Given the description of an element on the screen output the (x, y) to click on. 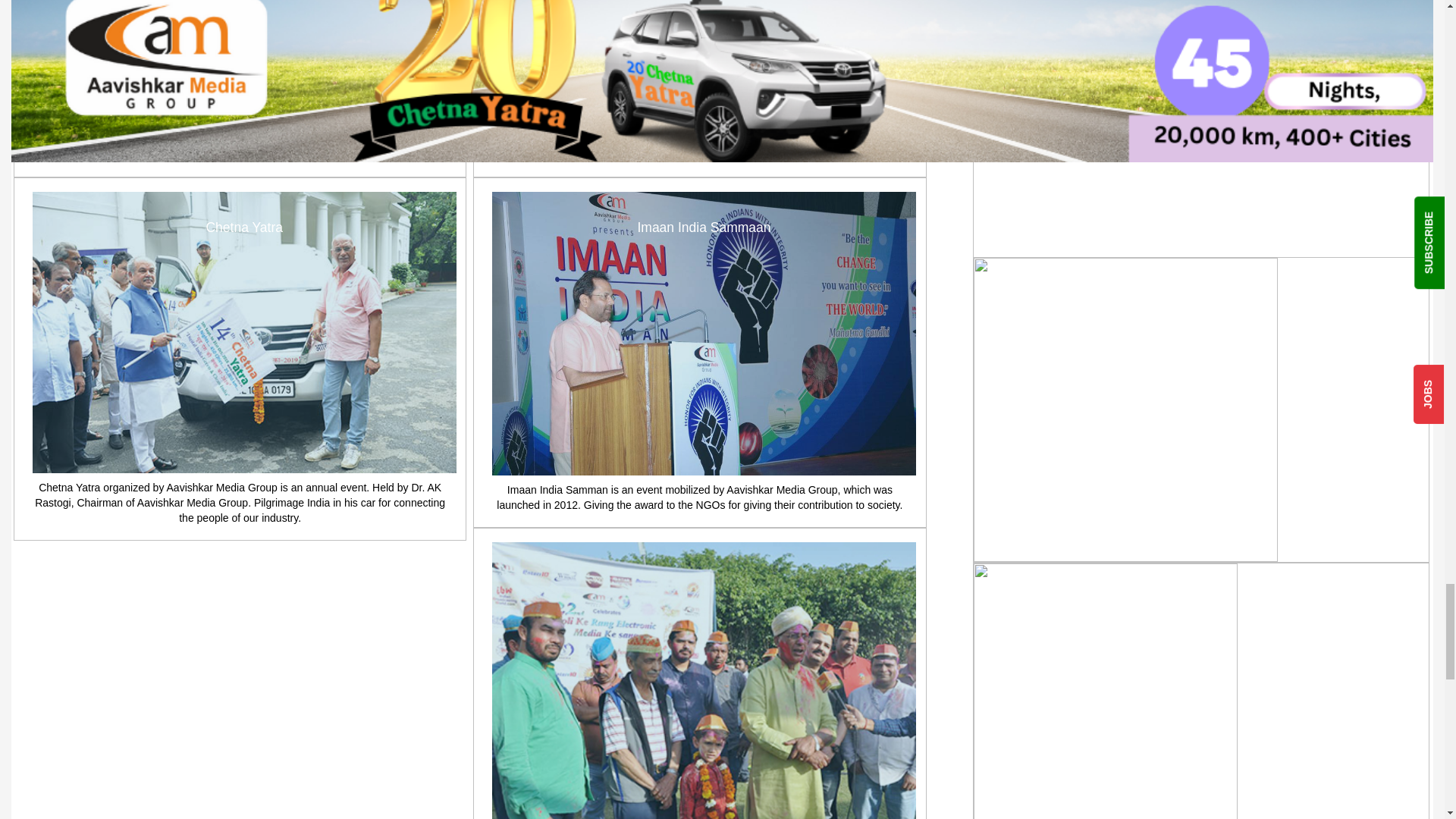
SatCab Symposium (244, 54)
Chetna Yatra (244, 332)
BCS Ratna Awards (703, 54)
Imaan India Sammaan (703, 333)
